Given the description of an element on the screen output the (x, y) to click on. 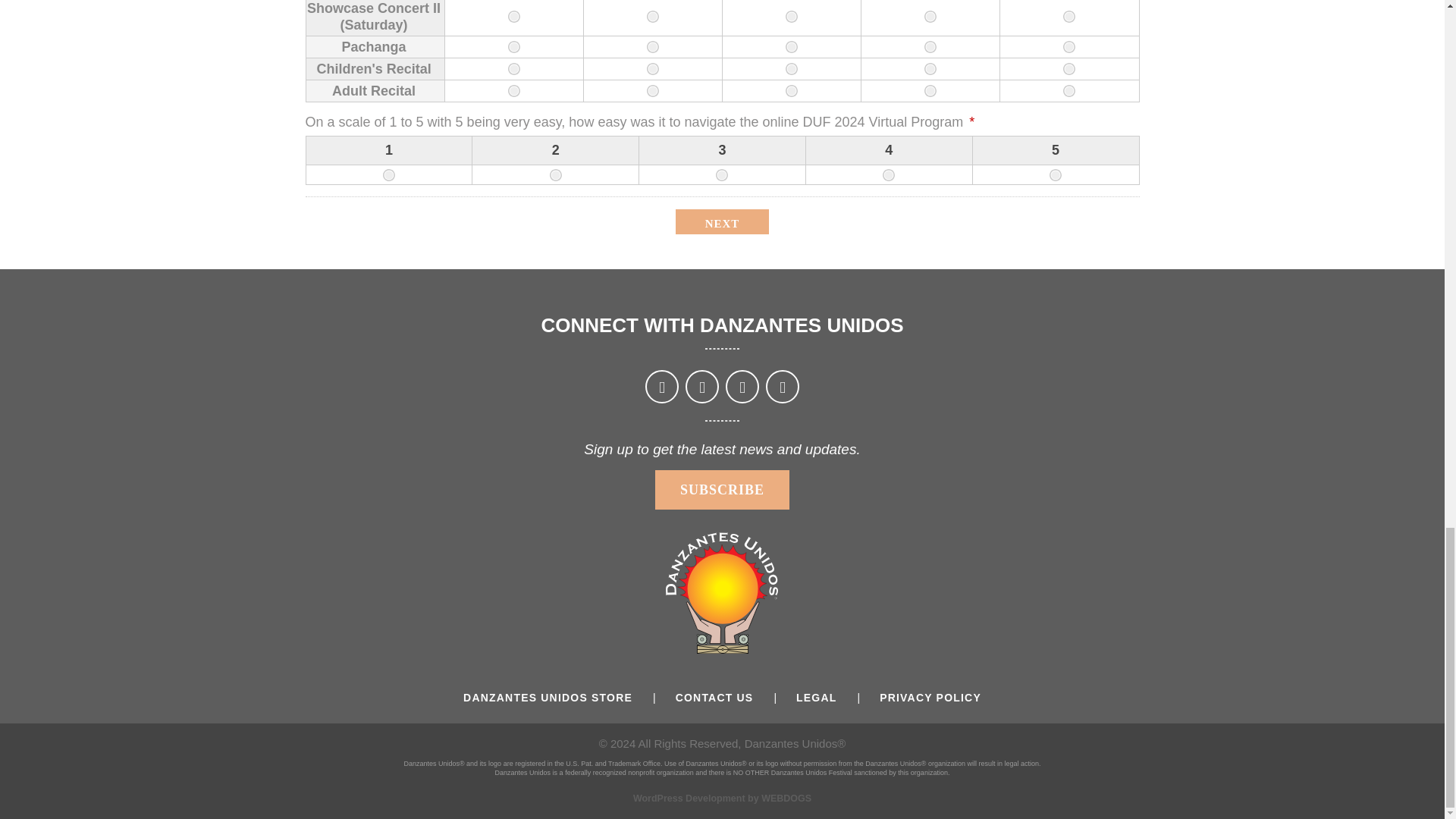
Next (722, 221)
